Given the description of an element on the screen output the (x, y) to click on. 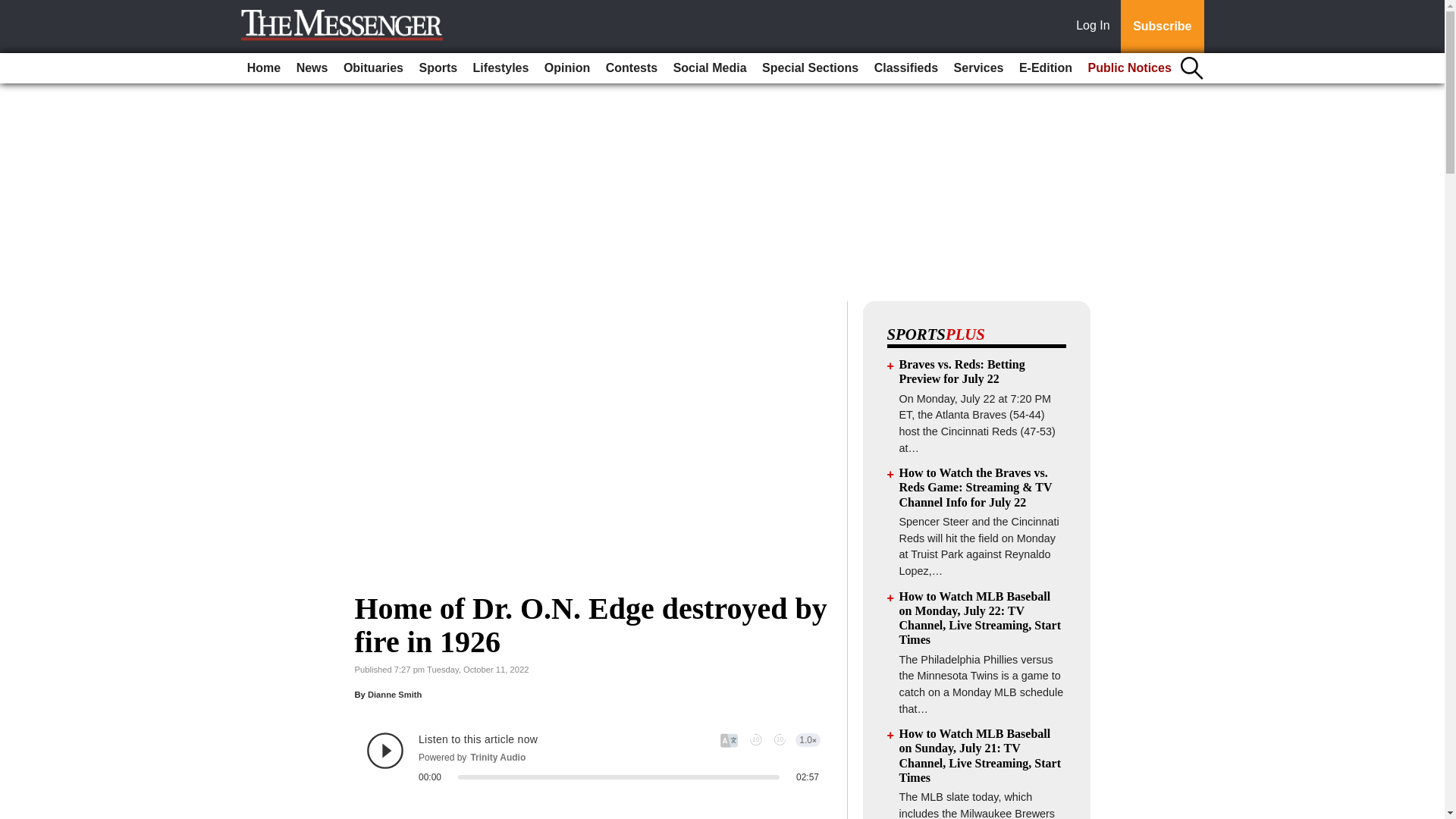
Social Media (709, 68)
Obituaries (373, 68)
Special Sections (809, 68)
Trinity Audio Player (592, 757)
Home (263, 68)
Contests (631, 68)
News (311, 68)
E-Edition (1045, 68)
Opinion (566, 68)
Services (978, 68)
Sports (437, 68)
Classifieds (905, 68)
Subscribe (1162, 26)
Log In (1095, 26)
Lifestyles (501, 68)
